Given the description of an element on the screen output the (x, y) to click on. 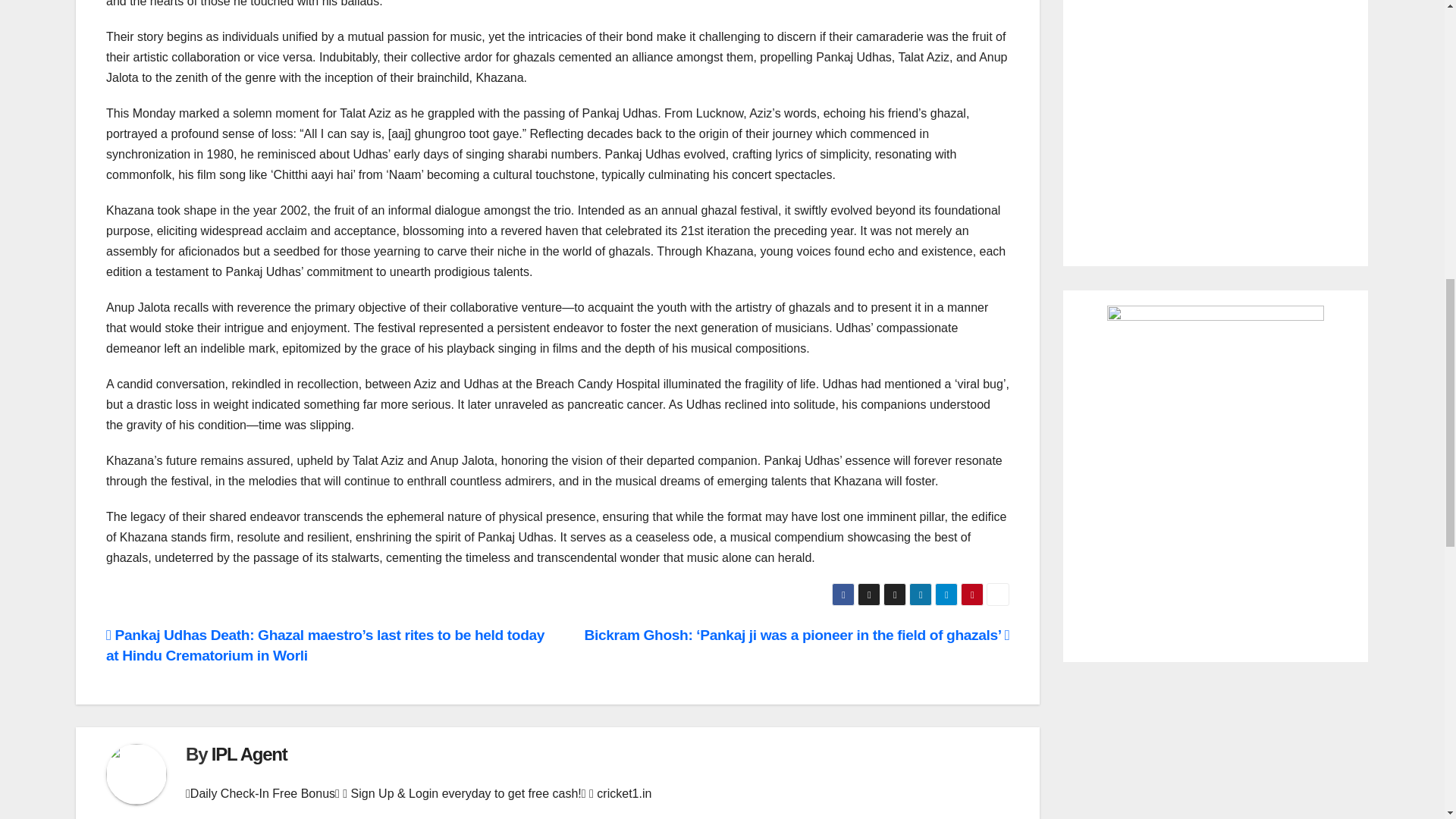
IPL Agent (248, 753)
